Given the description of an element on the screen output the (x, y) to click on. 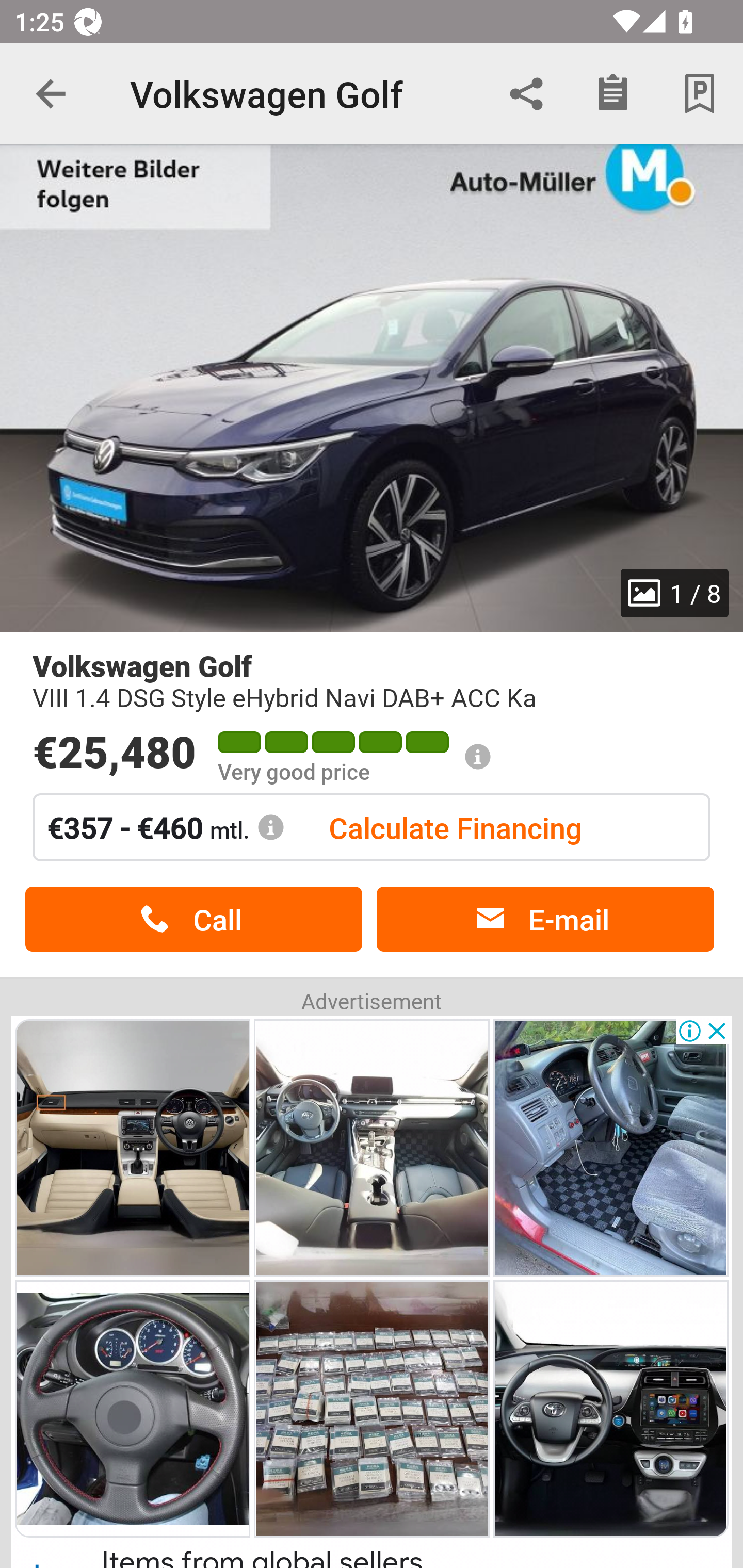
Navigate up (50, 93)
Share via (525, 93)
Checklist (612, 93)
Park (699, 93)
Calculate Financing (454, 826)
€357 - €460 mtl. (165, 826)
Call (193, 919)
E-mail (545, 919)
